Given the description of an element on the screen output the (x, y) to click on. 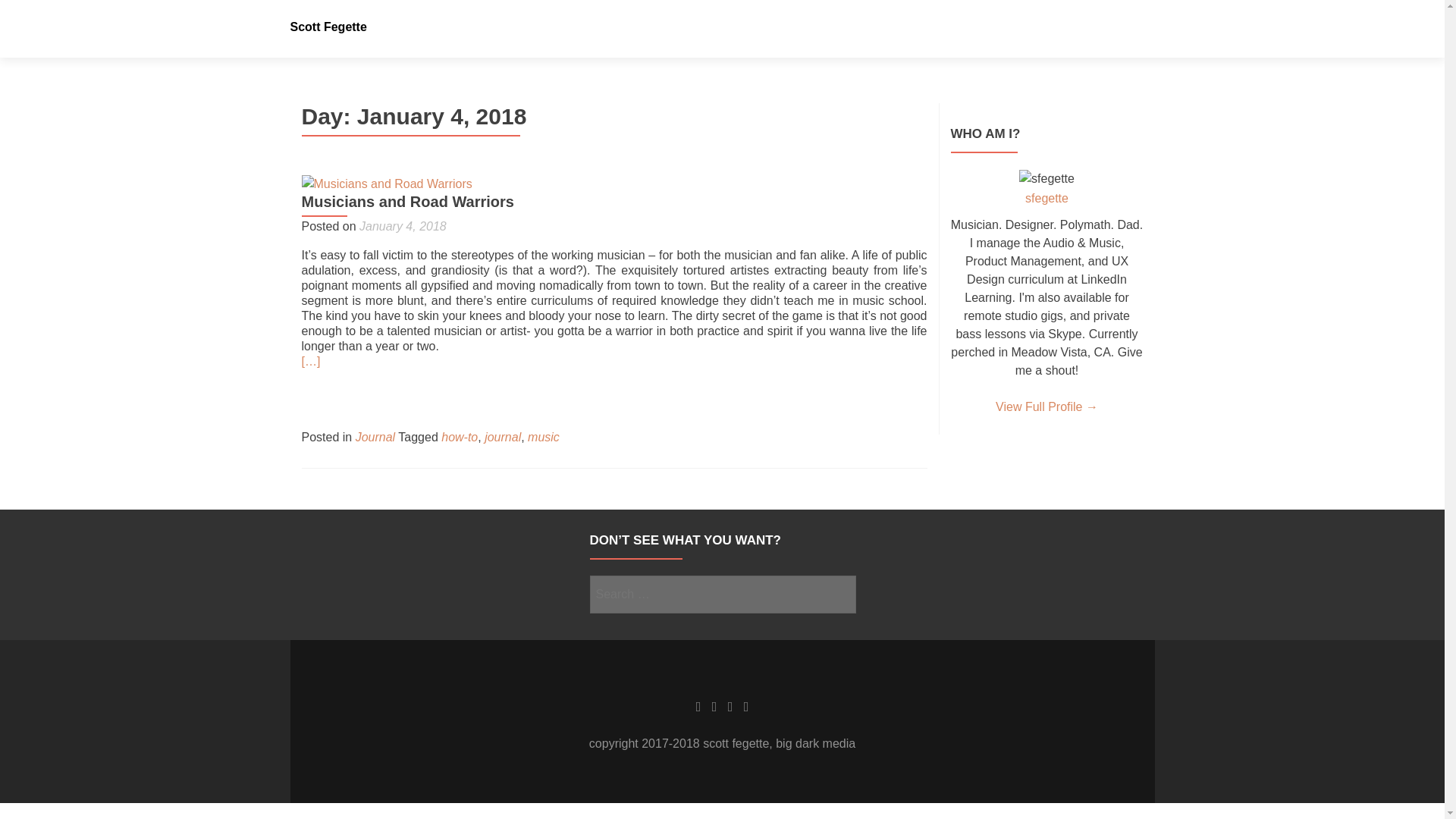
journal (502, 436)
Search (836, 592)
music (543, 436)
Journal (374, 436)
Scott Fegette (327, 26)
how-to (459, 436)
sfegette (1046, 197)
January 4, 2018 (402, 226)
Search (836, 592)
